Given the description of an element on the screen output the (x, y) to click on. 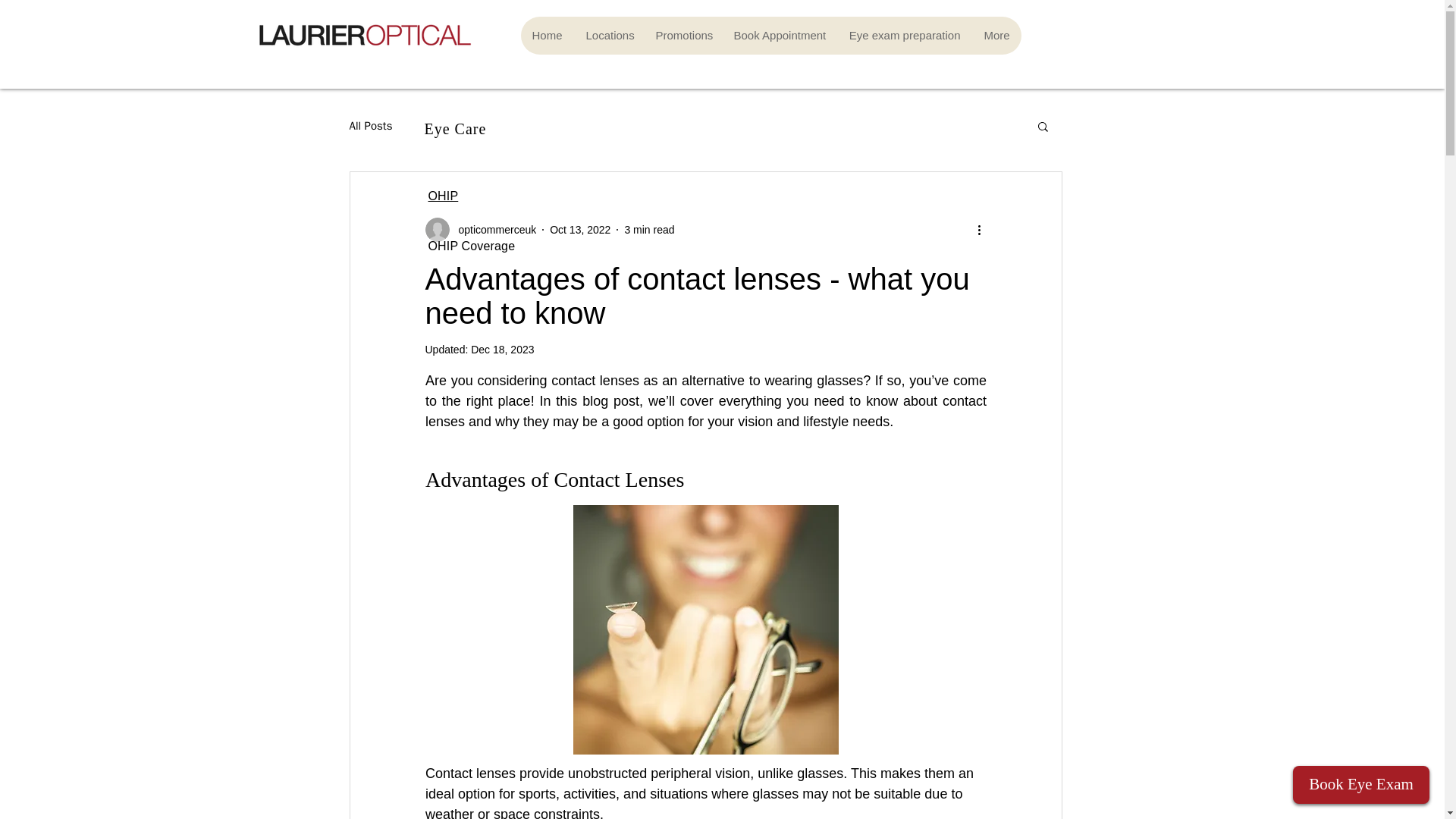
Eye exam preparation (904, 35)
Dec 18, 2023 (502, 349)
opticommerceuk (491, 229)
Home (546, 35)
Oct 13, 2022 (580, 228)
Promotions (681, 35)
Book Appointment (779, 35)
Locations (608, 35)
3 min read (649, 228)
